Given the description of an element on the screen output the (x, y) to click on. 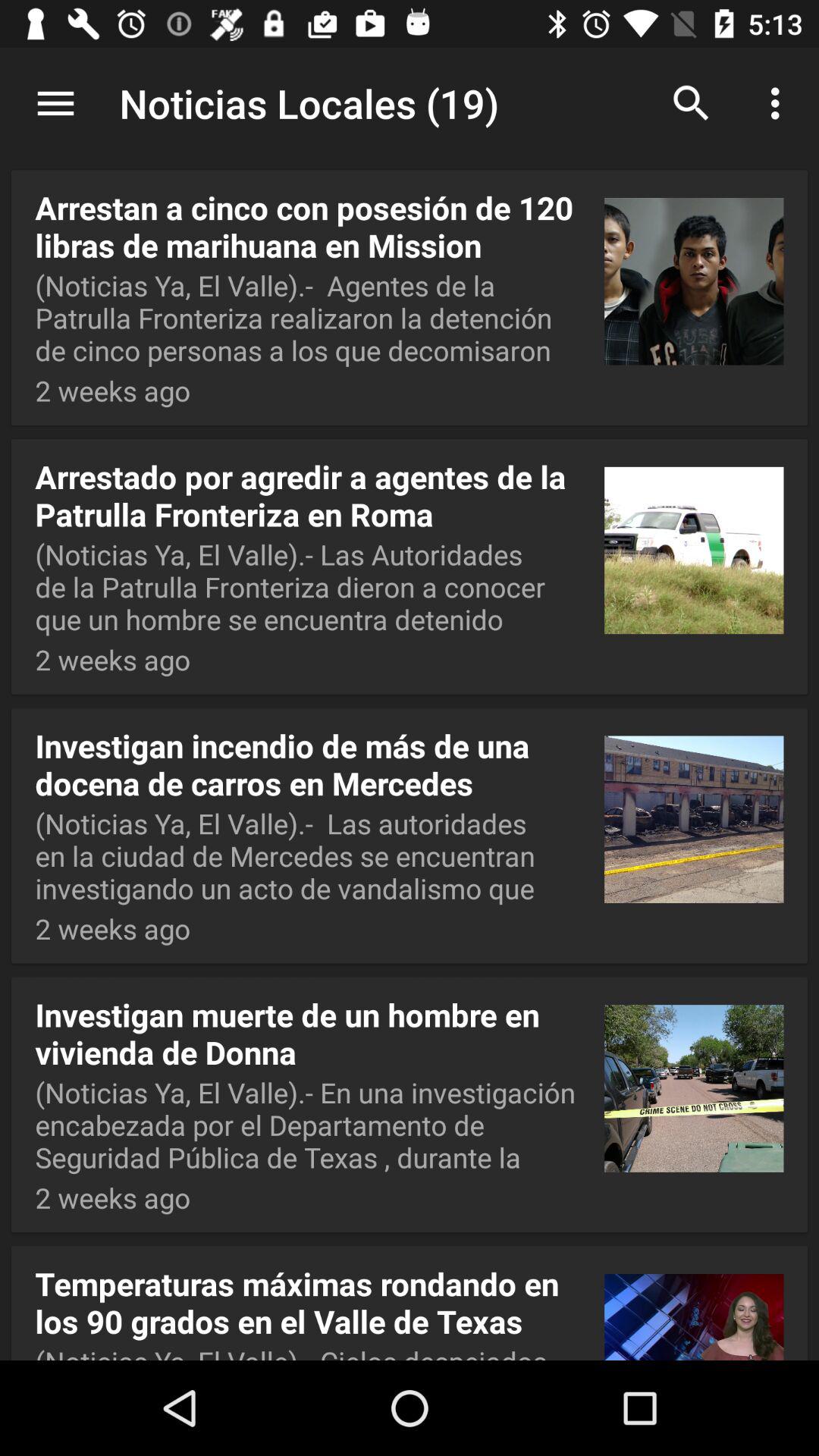
choose app to the left of the noticias locales (19) item (55, 103)
